Given the description of an element on the screen output the (x, y) to click on. 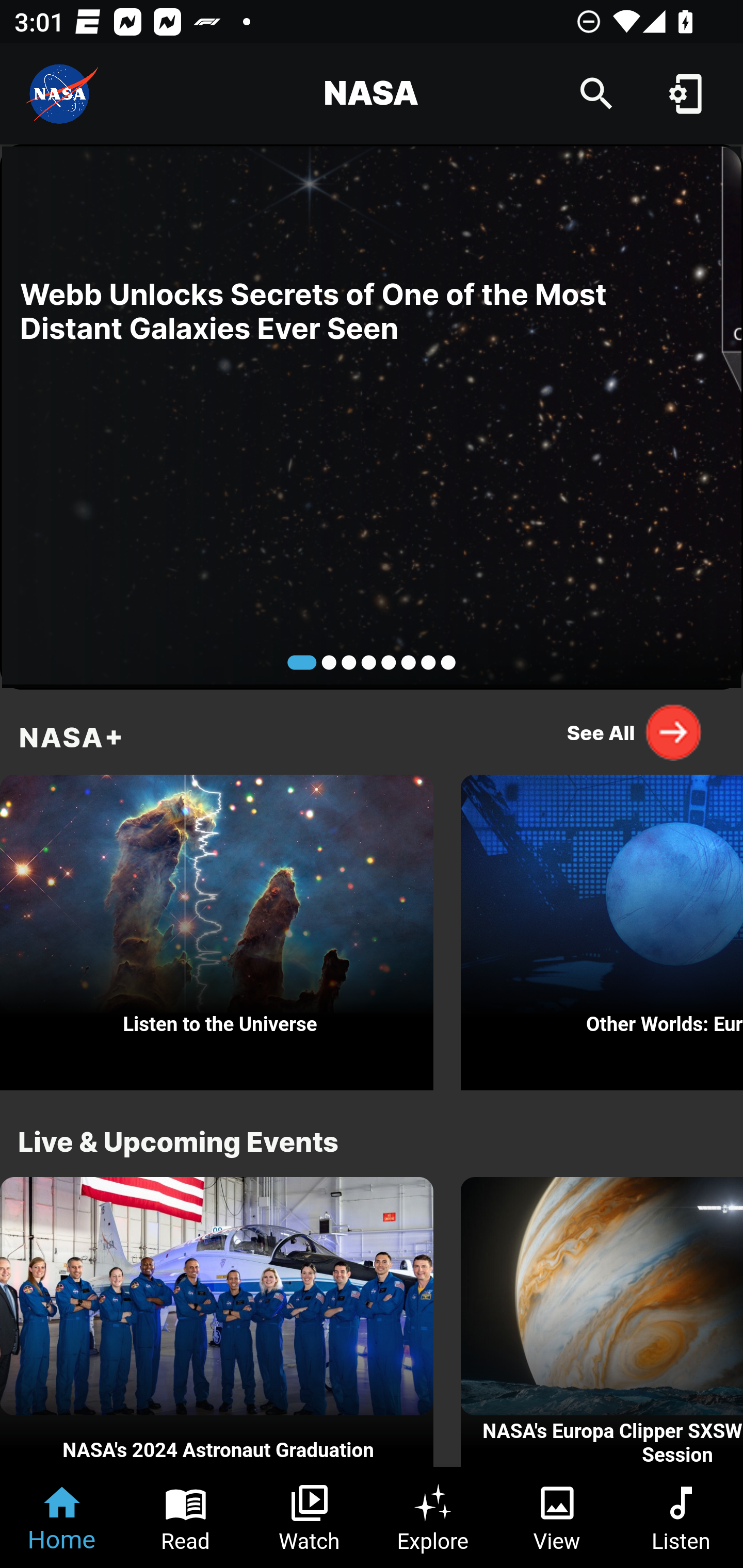
See All (634, 732)
Listen to the Universe (216, 927)
Other Worlds: Europa (601, 927)
NASA's 2024 Astronaut Graduation (216, 1322)
NASA's Europa Clipper SXSW 2024 Opening Session (601, 1322)
Home
Tab 1 of 6 (62, 1517)
Read
Tab 2 of 6 (185, 1517)
Watch
Tab 3 of 6 (309, 1517)
Explore
Tab 4 of 6 (433, 1517)
View
Tab 5 of 6 (556, 1517)
Listen
Tab 6 of 6 (680, 1517)
